Given the description of an element on the screen output the (x, y) to click on. 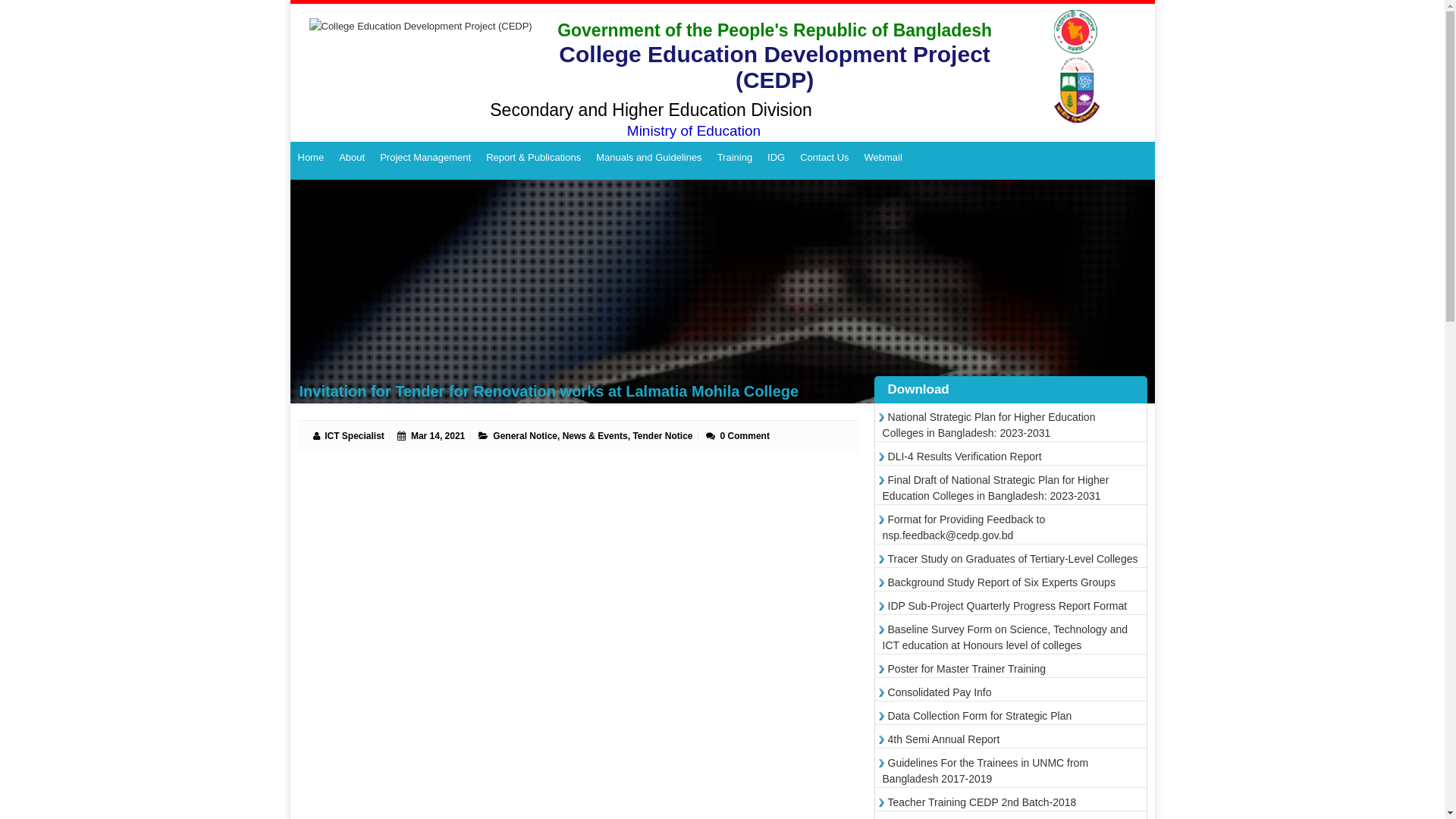
Tracer Study on Graduates of Tertiary-Level Colleges Element type: text (1010, 558)
Poster for Master Trainer Training Element type: text (964, 668)
Teacher Training CEDP 2nd Batch-2018 Element type: text (979, 802)
Report & Publications Element type: text (533, 157)
Data Collection Form for Strategic Plan Element type: text (977, 715)
Webmail Element type: text (883, 157)
4th Semi Annual Report Element type: text (941, 739)
General Notice Element type: text (524, 435)
Consolidated Pay Info Element type: text (936, 692)
Training Element type: text (734, 157)
Contact Us Element type: text (824, 157)
Home Element type: text (310, 157)
Manuals and Guidelines Element type: text (648, 157)
College Education Development Project (CEDP) Element type: hover (414, 57)
IDG Element type: text (775, 157)
DLI-4 Results Verification Report Element type: text (961, 456)
News & Events Element type: text (594, 435)
Background Study Report of Six Experts Groups Element type: text (998, 582)
IDP Sub-Project Quarterly Progress Report Format Element type: text (1004, 605)
0 Comment Element type: text (744, 435)
About Element type: text (351, 157)
ICT Specialist Element type: text (354, 435)
National University, Bangladesh Element type: hover (1079, 66)
Project Management Element type: text (425, 157)
Tender Notice Element type: text (662, 435)
Format for Providing Feedback to nsp.feedback@cedp.gov.bd Element type: text (963, 527)
